Given the description of an element on the screen output the (x, y) to click on. 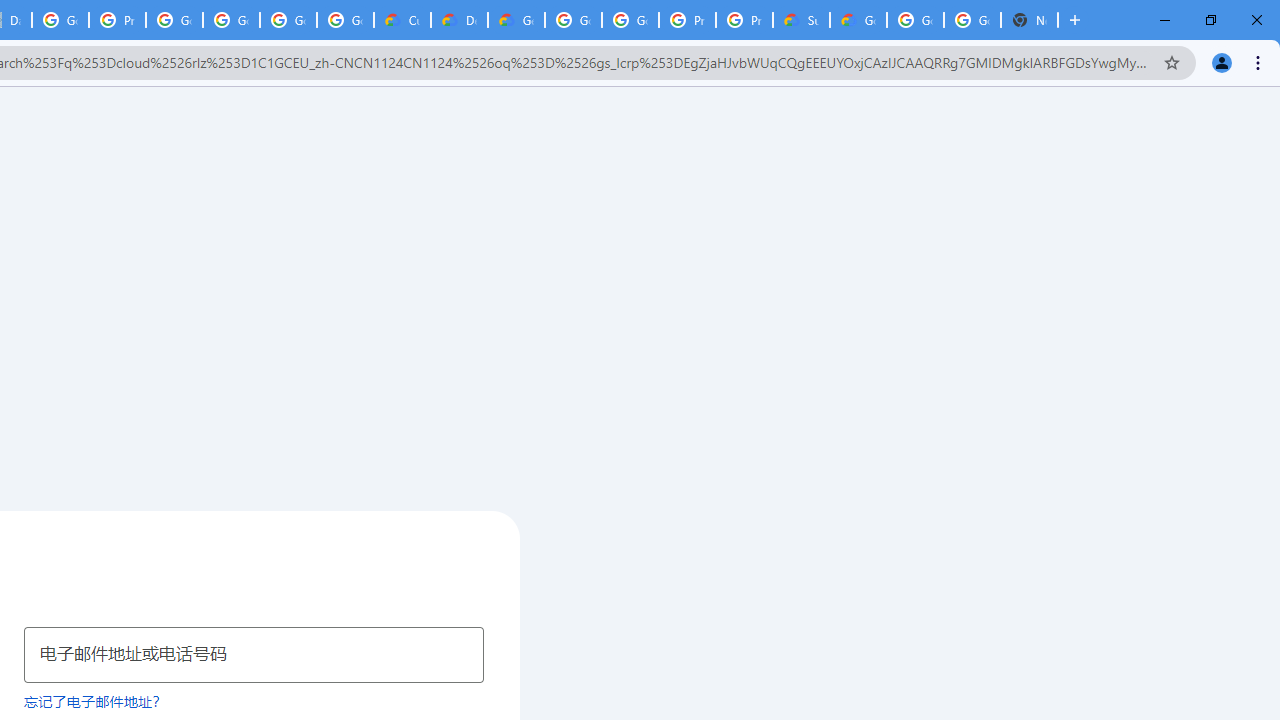
Google Cloud Platform (915, 20)
Google Cloud Service Health (858, 20)
Customer Care | Google Cloud (402, 20)
Google Workspace - Specific Terms (288, 20)
Google Cloud Platform (971, 20)
Gemini for Business and Developers | Google Cloud (516, 20)
New Tab (1029, 20)
